Given the description of an element on the screen output the (x, y) to click on. 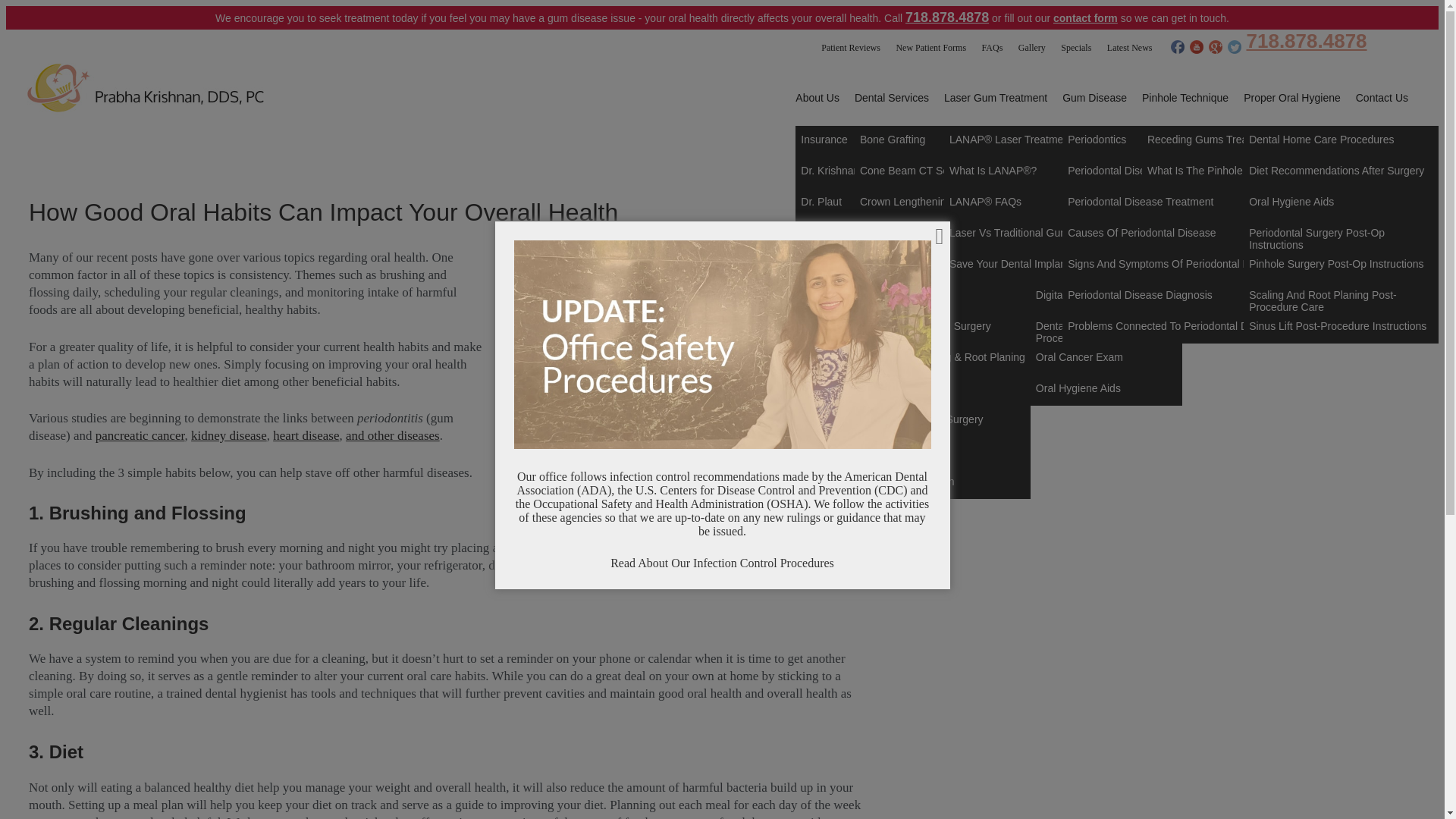
Bone Grafting (942, 141)
FAQs (992, 47)
Sinus Augmentation (942, 482)
718.878.4878 (946, 18)
contact form (1085, 18)
Dr. Plaut (833, 203)
Dental Home Care Procedures (1106, 327)
Office Policies (833, 296)
New Patient Forms (930, 47)
Patient Reviews (850, 47)
Dental Exams And Cleaning (1106, 265)
Insurance (833, 141)
Dr. Raza (833, 234)
Crown Lengthening (942, 203)
Dr. Krishnan (833, 172)
